Given the description of an element on the screen output the (x, y) to click on. 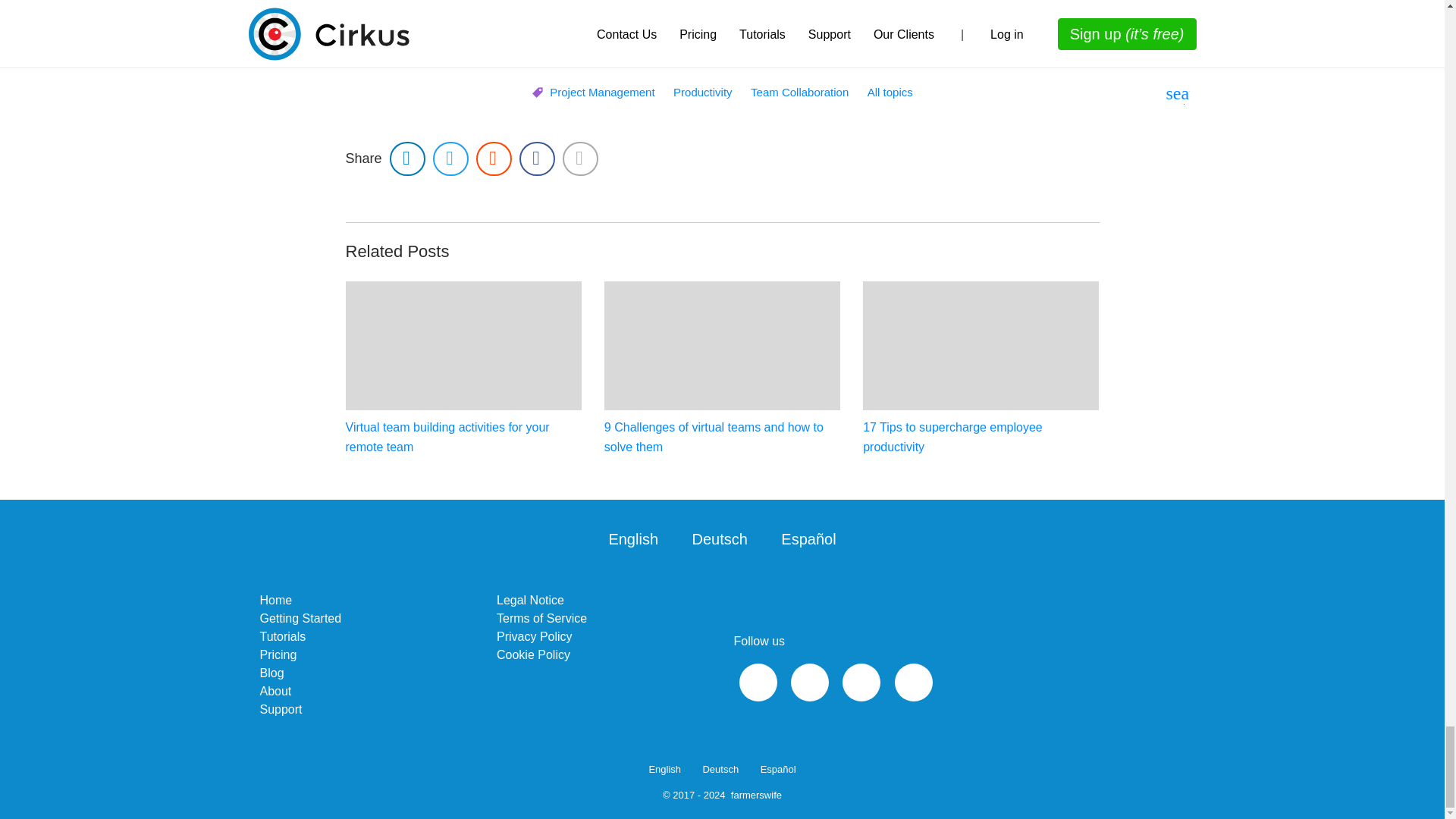
17 Tips to supercharge employee productivity (981, 369)
9 Challenges of virtual teams and how to solve them (722, 369)
Virtual team building activities for your remote team (463, 369)
